Given the description of an element on the screen output the (x, y) to click on. 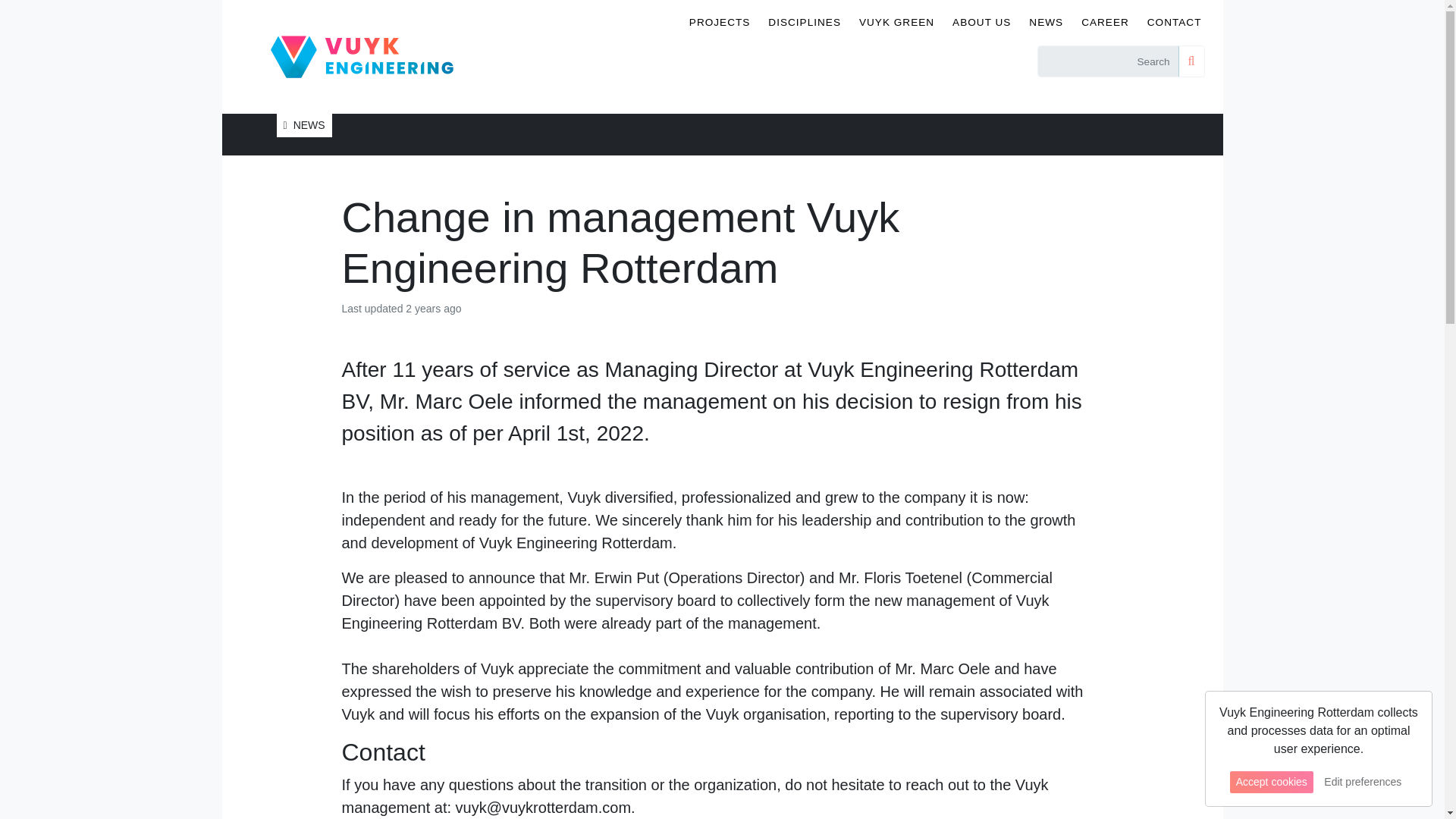
PROJECTS (719, 22)
VUYK GREEN (896, 22)
NEWS (1045, 22)
CONTACT (1174, 22)
ABOUT US (981, 22)
NEWS (303, 125)
Accept cookies (1271, 781)
Edit preferences (1362, 781)
DISCIPLINES (804, 22)
CAREER (1104, 22)
